Given the description of an element on the screen output the (x, y) to click on. 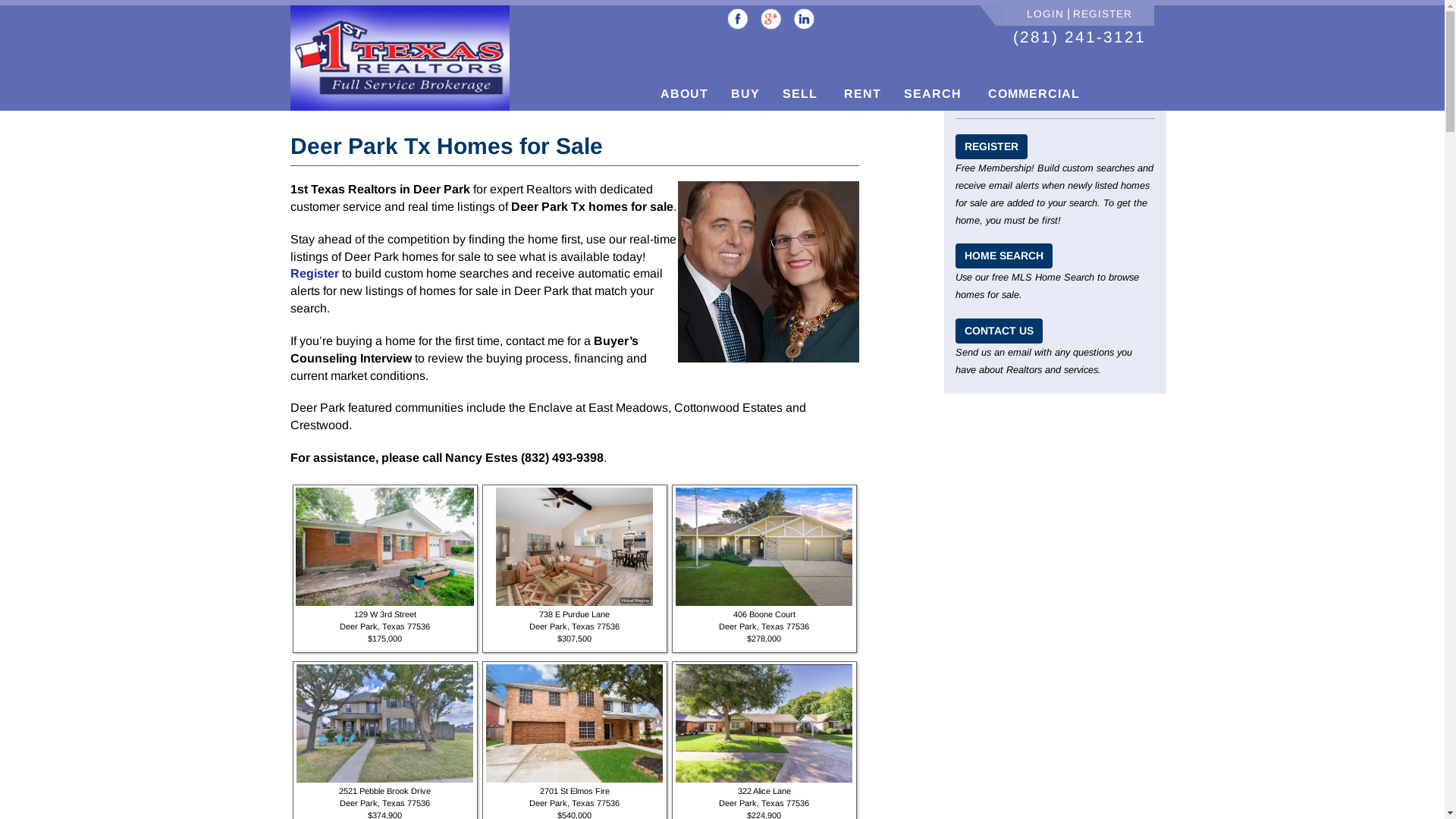
REGISTER Element type: text (1102, 13)
Register Element type: text (313, 272)
REGISTER Element type: text (991, 146)
 RENT Element type: text (860, 89)
SEARCH Element type: text (932, 89)
(281) 241-3121 Element type: text (1079, 36)
Connect with 1st Texas Realtors on LinkedIn Element type: hover (804, 18)
SELL Element type: text (799, 89)
 COMMERCIAL Element type: text (1031, 89)
LOGIN Element type: text (1044, 13)
ABOUT Element type: text (684, 89)
HOME SEARCH Element type: text (1003, 255)
Follow 1st Texas Realtors on Google Plus Element type: hover (770, 18)
BUY Element type: text (745, 89)
Like 1st Texas Realtors on Facebook Element type: hover (737, 18)
CONTACT US Element type: text (998, 330)
